Given the description of an element on the screen output the (x, y) to click on. 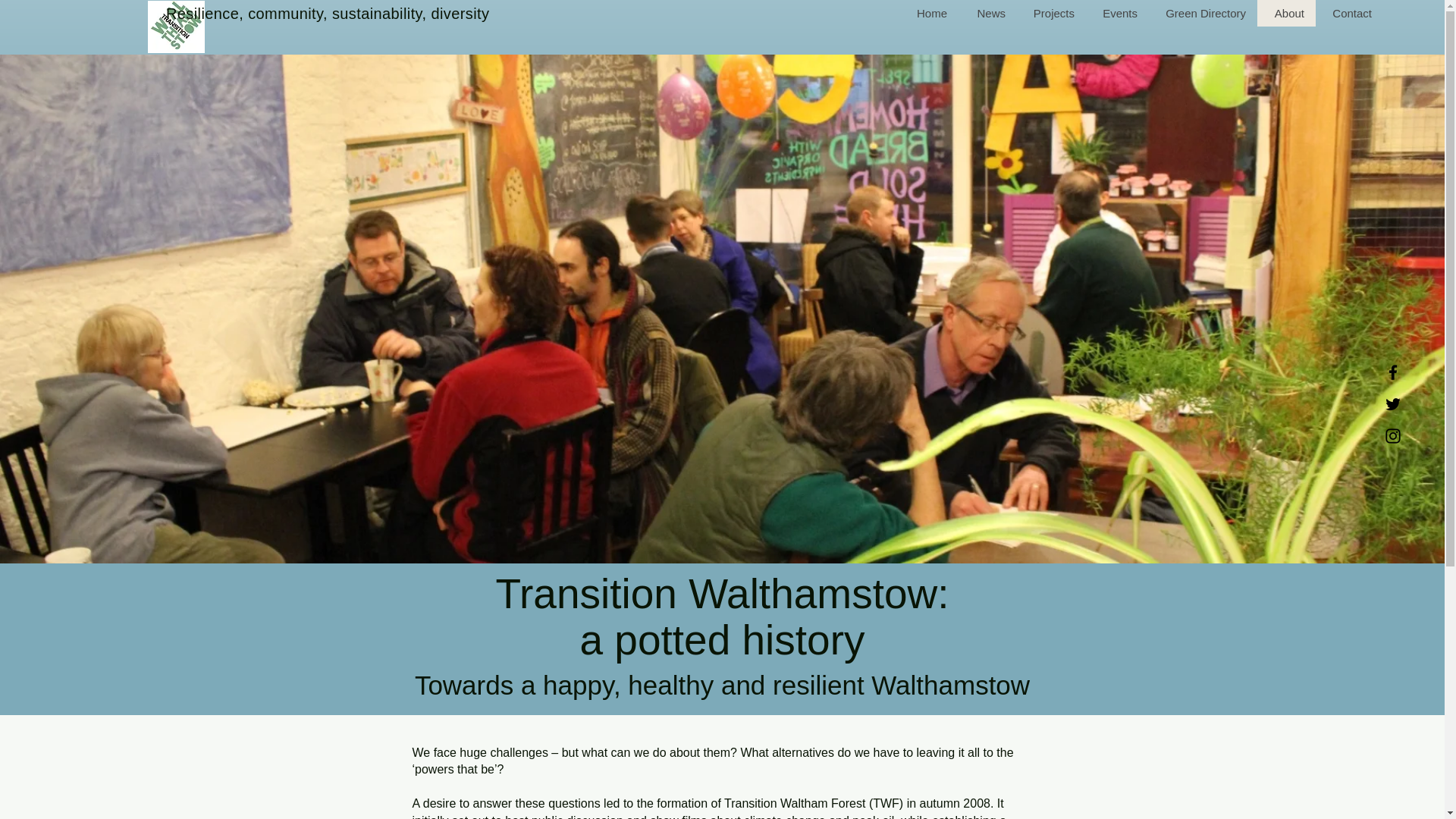
Projects (1051, 13)
Resilience, community, sustainability, diversity (327, 13)
Green Directory (1202, 13)
Home (928, 13)
News (987, 13)
Events (1117, 13)
About (1286, 13)
Contact (1349, 13)
Transition Walthamstow logo.jpeg (175, 26)
